Given the description of an element on the screen output the (x, y) to click on. 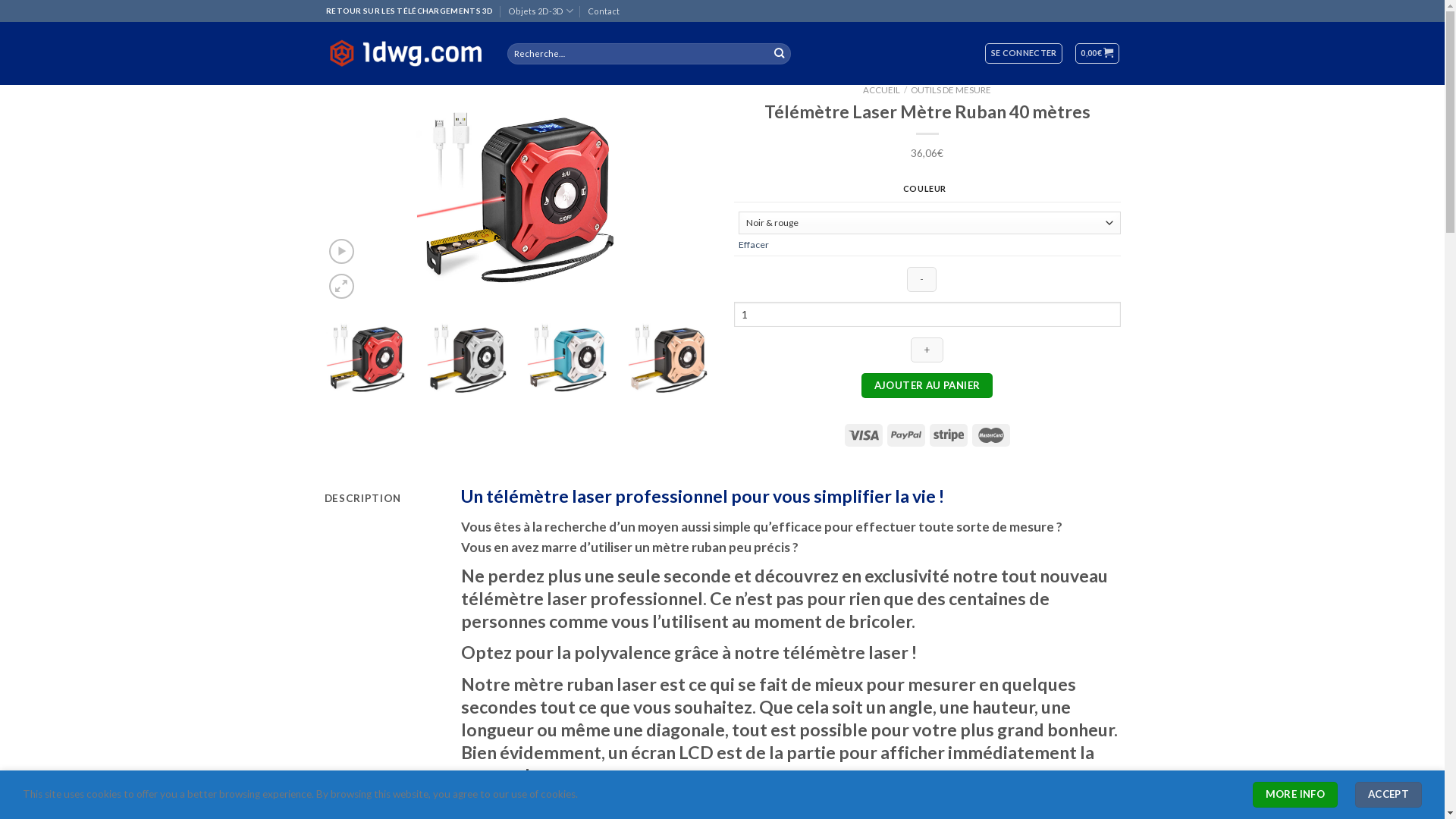
Objets 2D-3D Element type: text (540, 10)
Zoom Element type: hover (341, 285)
Contact Element type: text (603, 10)
1DWG Boutique Element type: hover (404, 53)
SE CONNECTER Element type: text (1023, 53)
Video Element type: hover (341, 250)
ACCUEIL Element type: text (881, 89)
Qty Element type: hover (927, 313)
ACCEPT Element type: text (1388, 794)
MORE INFO Element type: text (1294, 794)
Effacer Element type: text (753, 244)
AJOUTER AU PANIER Element type: text (926, 385)
metre-laser-noir-rouge Element type: hover (517, 193)
OUTILS DE MESURE Element type: text (950, 89)
Recherche Element type: text (779, 53)
